Given the description of an element on the screen output the (x, y) to click on. 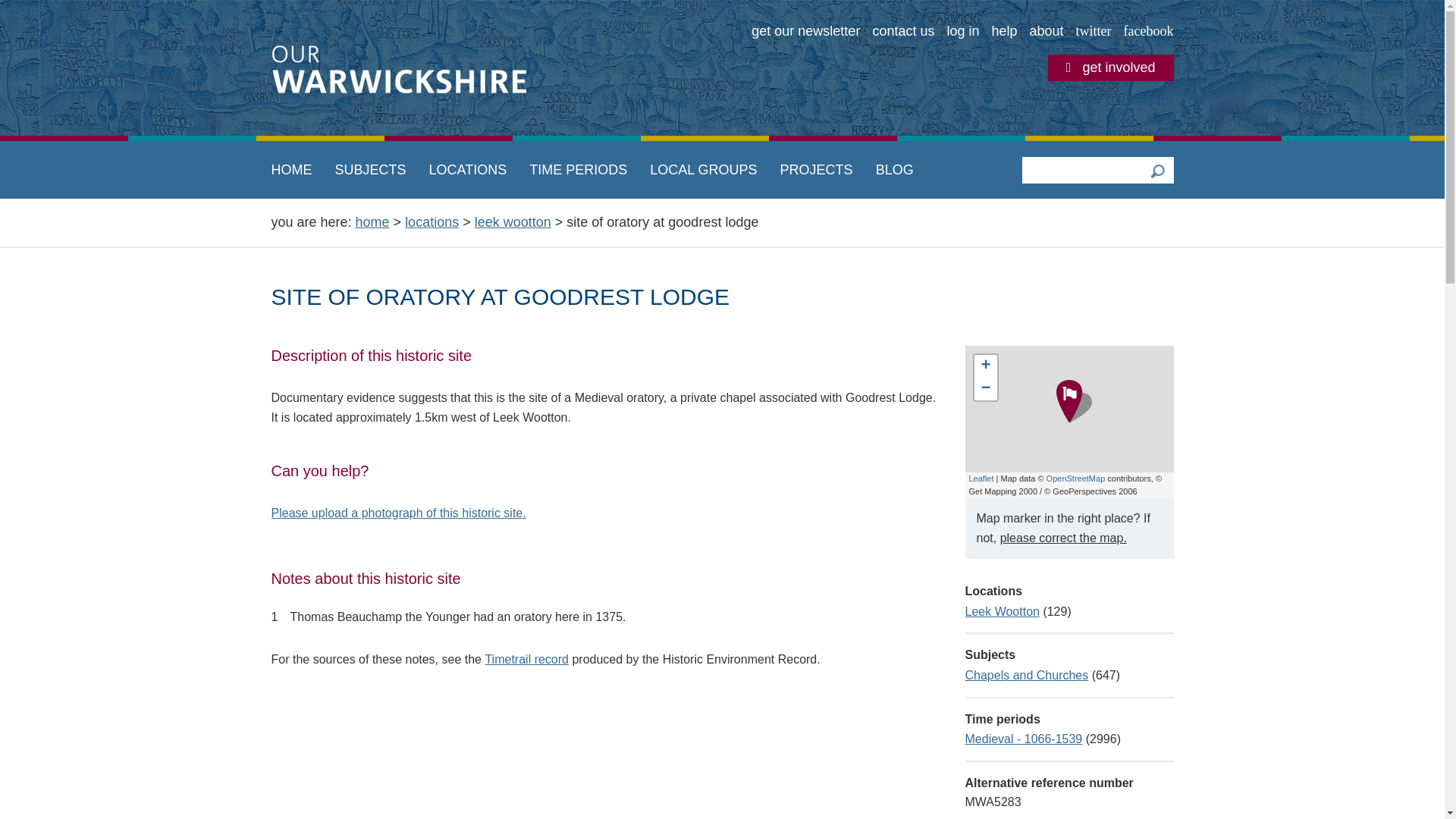
Leaflet (981, 478)
Medieval - 1066-1539 (1022, 738)
TIME PERIODS (577, 169)
home (372, 222)
please correct the map. (1063, 537)
A JS library for interactive maps (981, 478)
Search Our Warwickshire (1156, 170)
PROJECTS (816, 169)
Go (1156, 170)
leek wootton (512, 222)
get our newsletter (805, 31)
Go (1156, 170)
get involved (1110, 67)
Chapels and Churches (1025, 675)
OpenStreetMap (1075, 478)
